Given the description of an element on the screen output the (x, y) to click on. 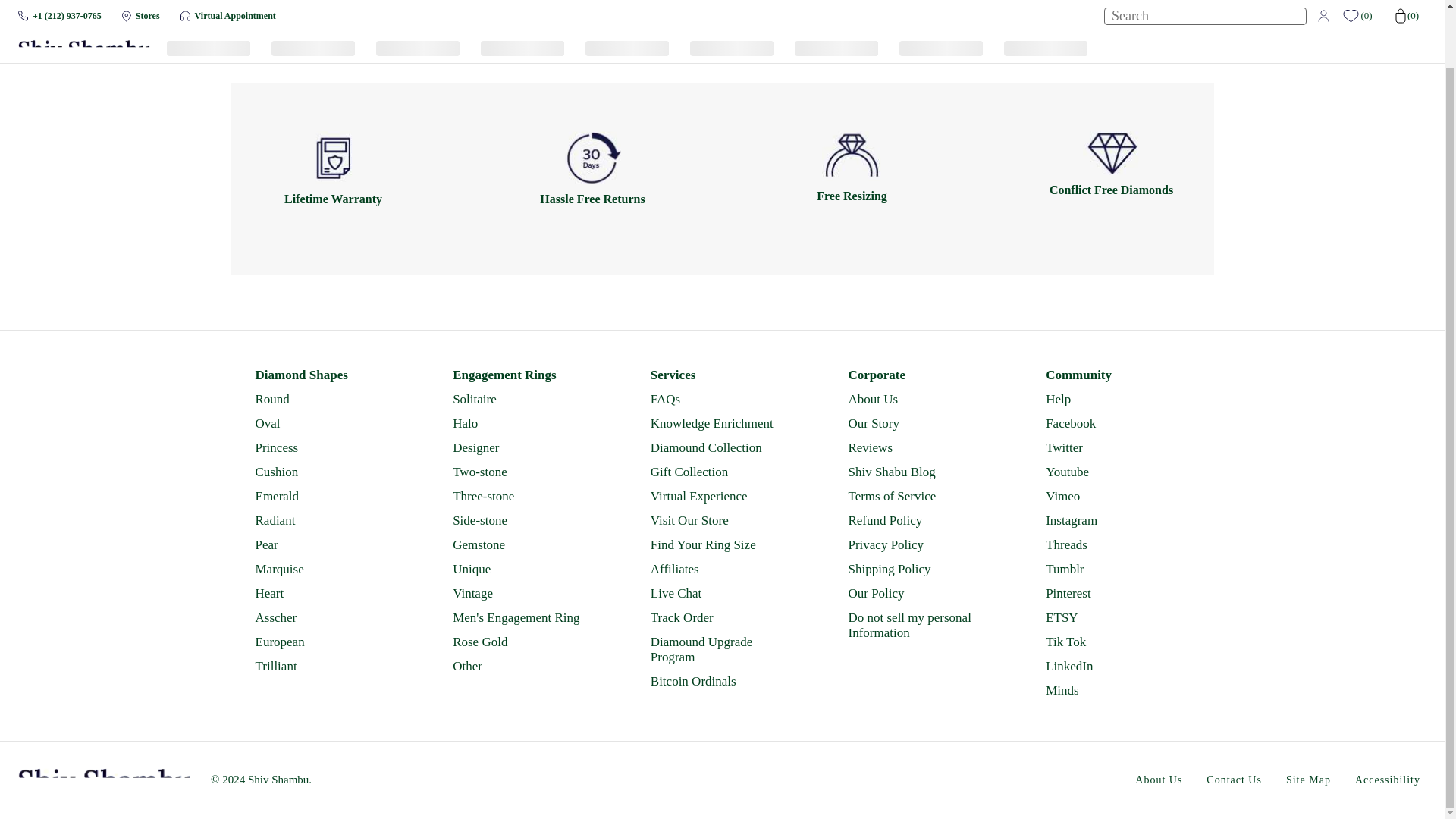
Round (325, 399)
Two-stone (523, 472)
Home (31, 41)
Diamonds (74, 41)
Halo (523, 423)
Asscher (325, 617)
Cushion (325, 472)
Gemstone (523, 544)
Princess (325, 447)
Rose Gold (523, 642)
Solitaire (523, 399)
Pear (325, 544)
Diamond Shapes (325, 375)
Vintage (523, 593)
Heart (325, 593)
